Given the description of an element on the screen output the (x, y) to click on. 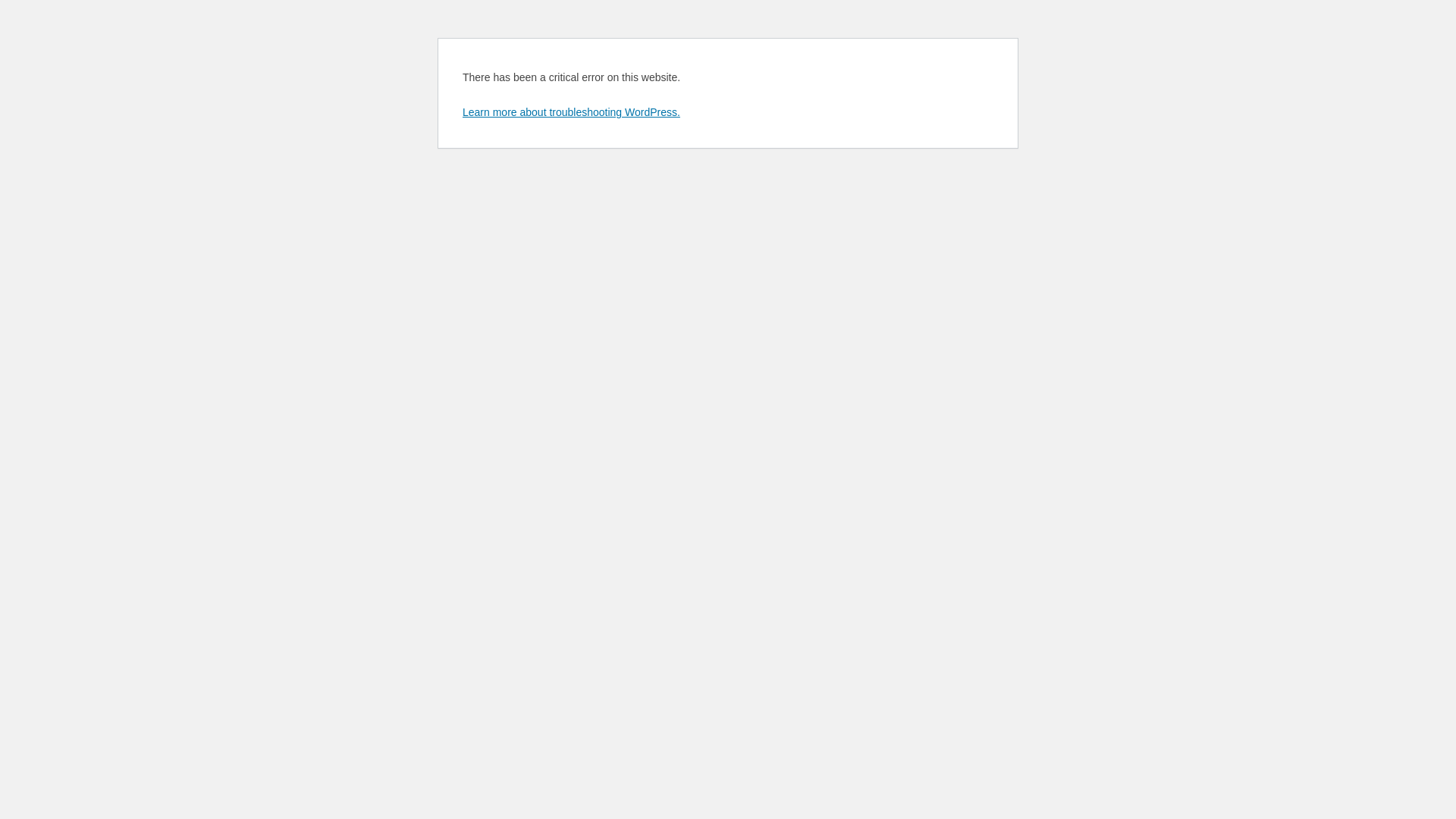
Learn more about troubleshooting WordPress. Element type: text (571, 112)
